Given the description of an element on the screen output the (x, y) to click on. 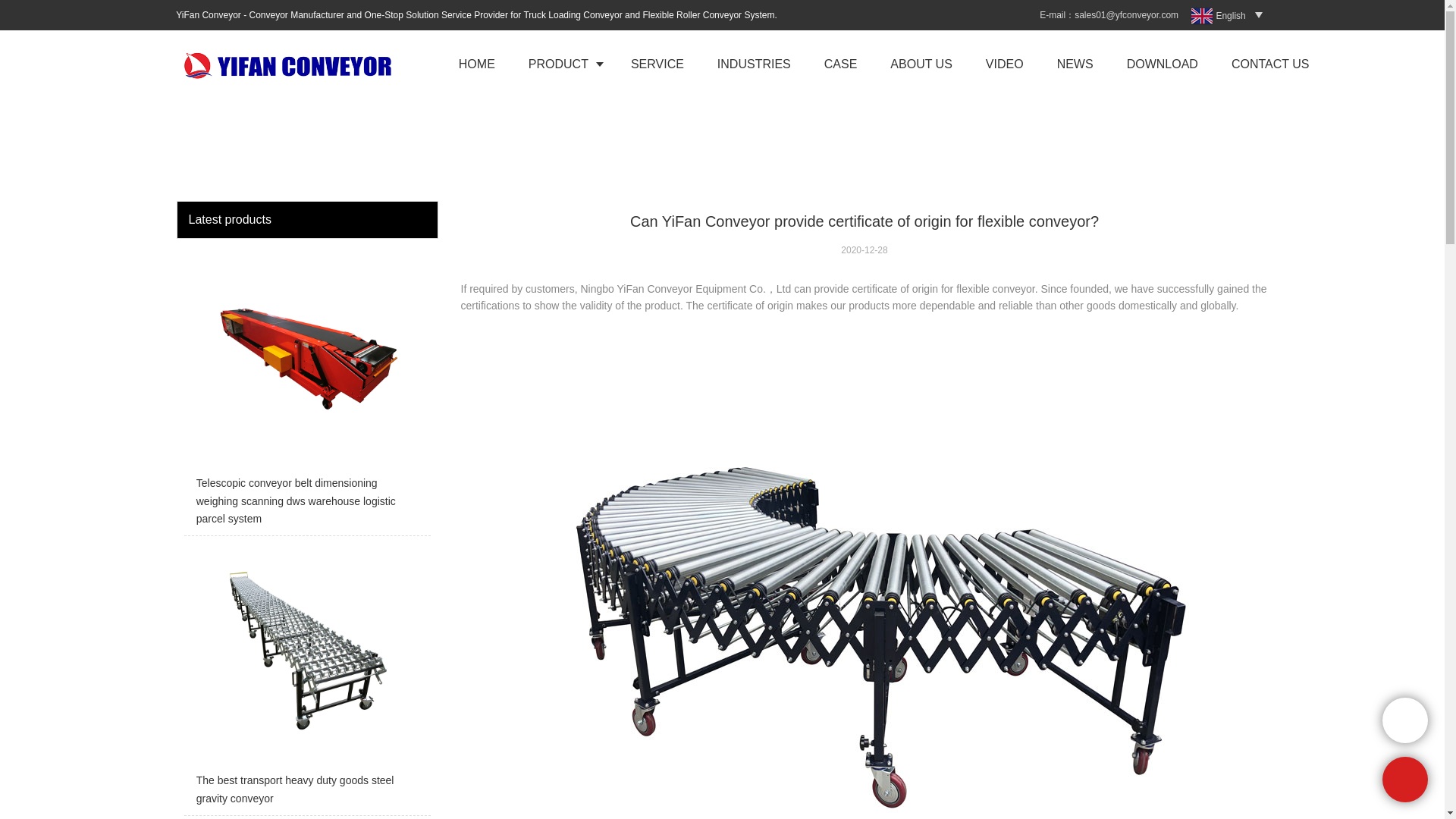
The best transport heavy duty goods steel gravity conveyor (306, 678)
NEWS (1075, 64)
CONTACT US (1270, 64)
INDUSTRIES (754, 64)
VIDEO (1005, 64)
CASE (841, 64)
SERVICE (657, 64)
HOME (477, 64)
PRODUCT (563, 64)
ABOUT US (921, 64)
DOWNLOAD (1161, 64)
